Given the description of an element on the screen output the (x, y) to click on. 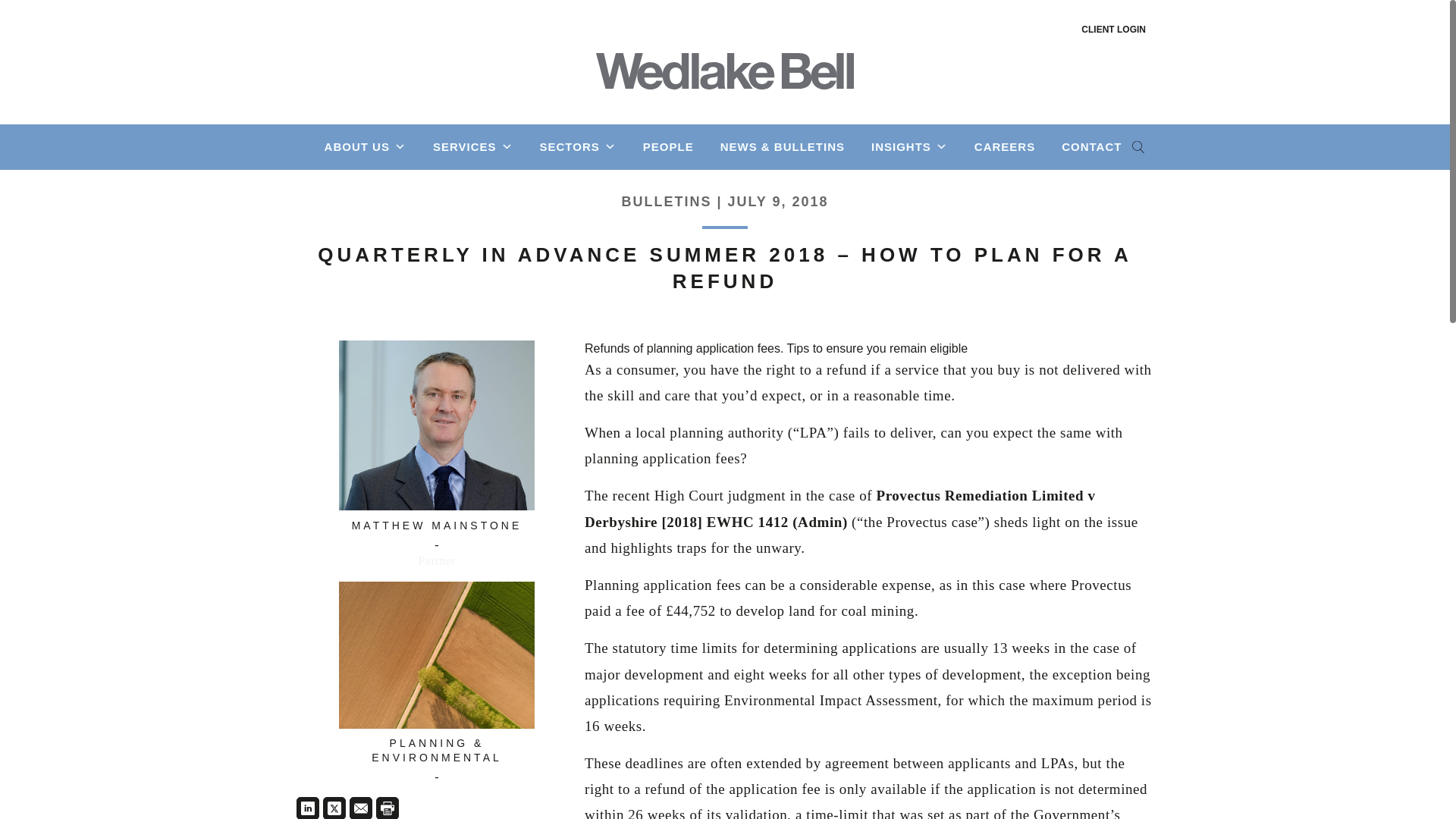
SERVICES (473, 146)
ABOUT US (365, 146)
CLIENT LOGIN (1113, 29)
